Given the description of an element on the screen output the (x, y) to click on. 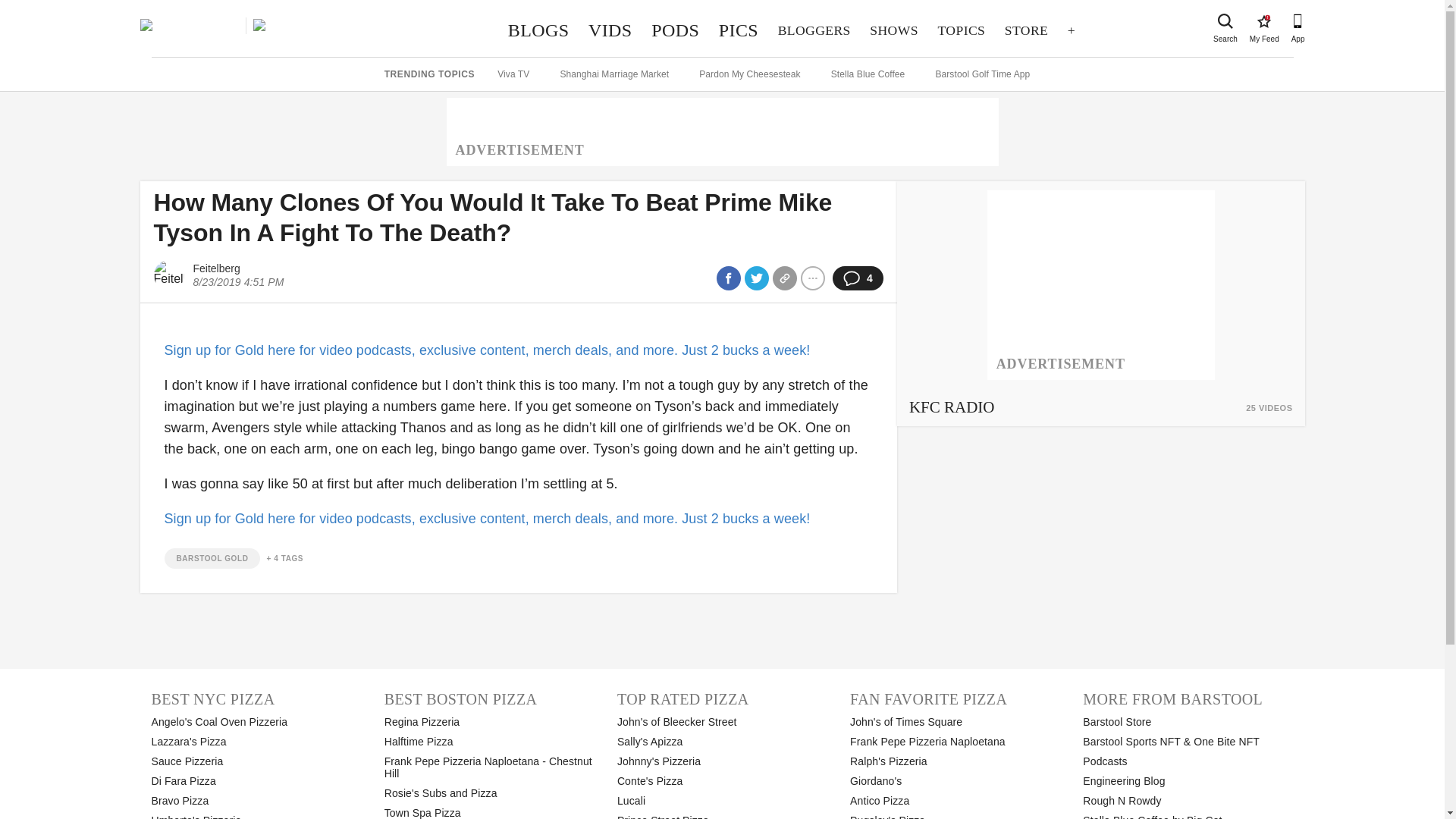
Search (1263, 20)
PICS (1225, 20)
BLOGGERS (738, 30)
PODS (814, 30)
SHOWS (675, 30)
TOPICS (894, 30)
BLOGS (961, 30)
STORE (537, 30)
VIDS (1026, 30)
